Given the description of an element on the screen output the (x, y) to click on. 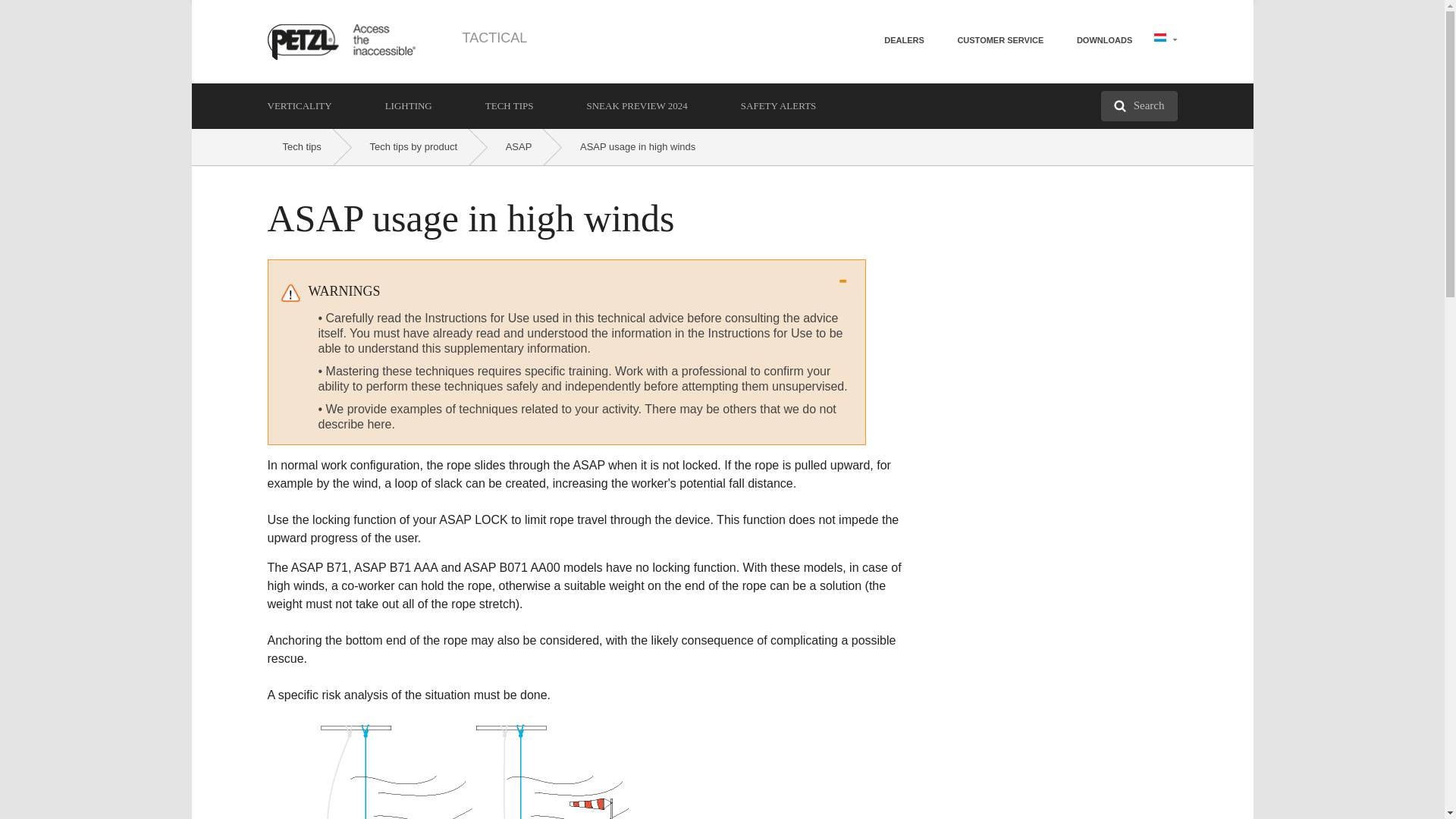
DOWNLOADS (1104, 39)
CUSTOMER SERVICE (999, 39)
DEALERS (903, 39)
TACTICAL (495, 37)
